Given the description of an element on the screen output the (x, y) to click on. 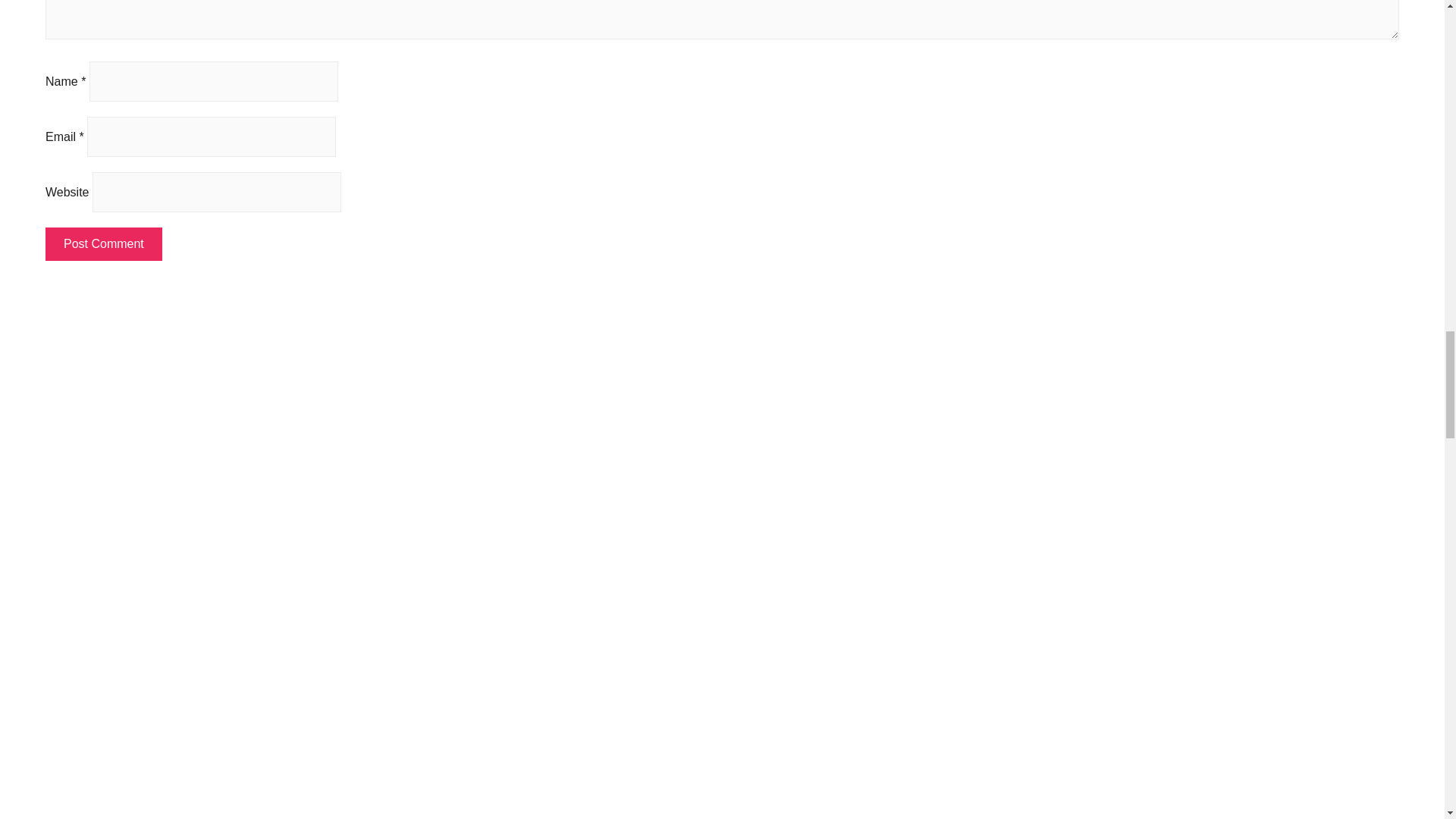
Post Comment (103, 244)
